Given the description of an element on the screen output the (x, y) to click on. 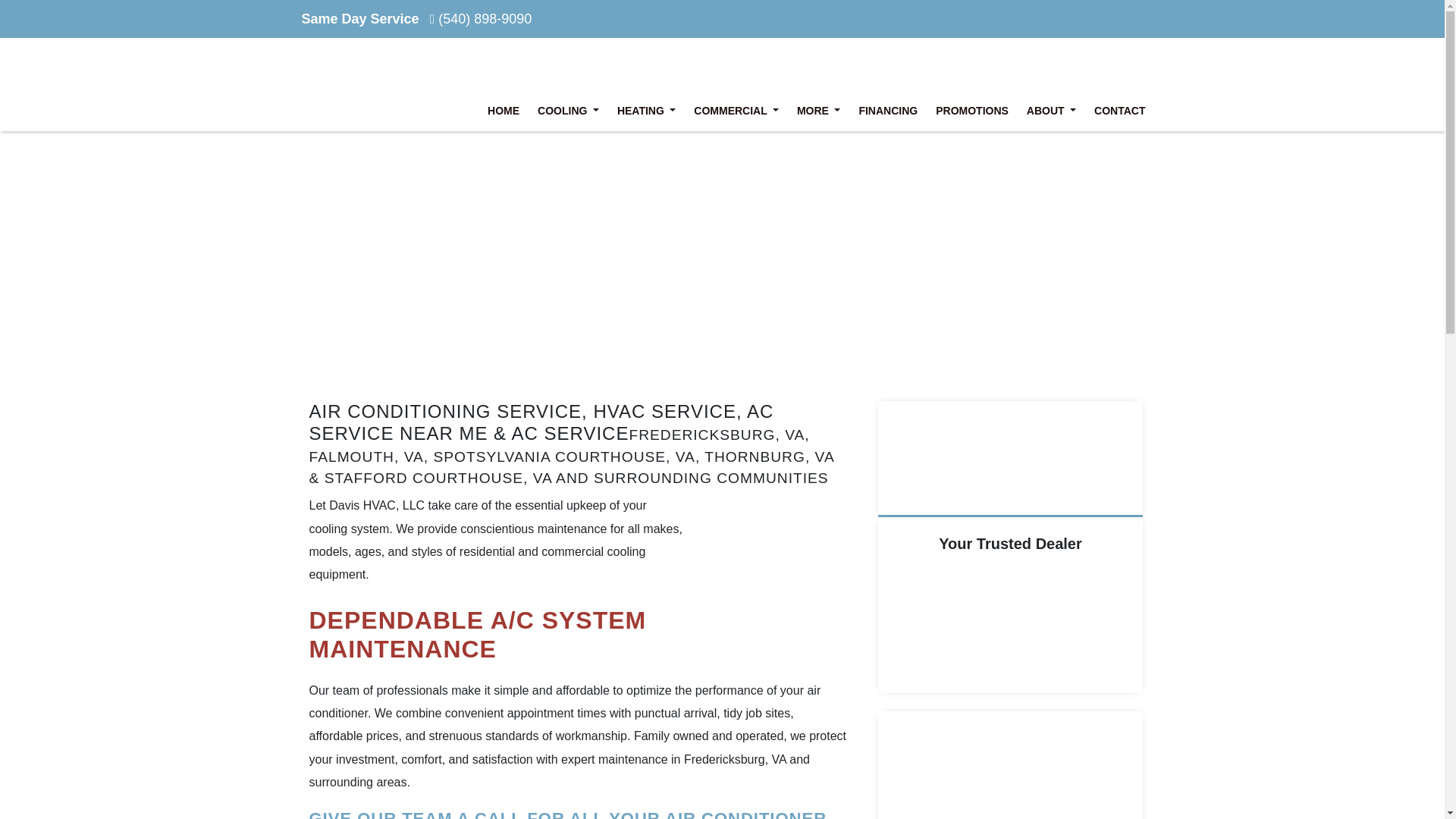
ABOUT (1050, 110)
FINANCING (887, 110)
COOLING (568, 110)
HEATING (646, 110)
COMMERCIAL (735, 110)
MORE (817, 110)
HOME (503, 110)
PROMOTIONS (971, 110)
